Given the description of an element on the screen output the (x, y) to click on. 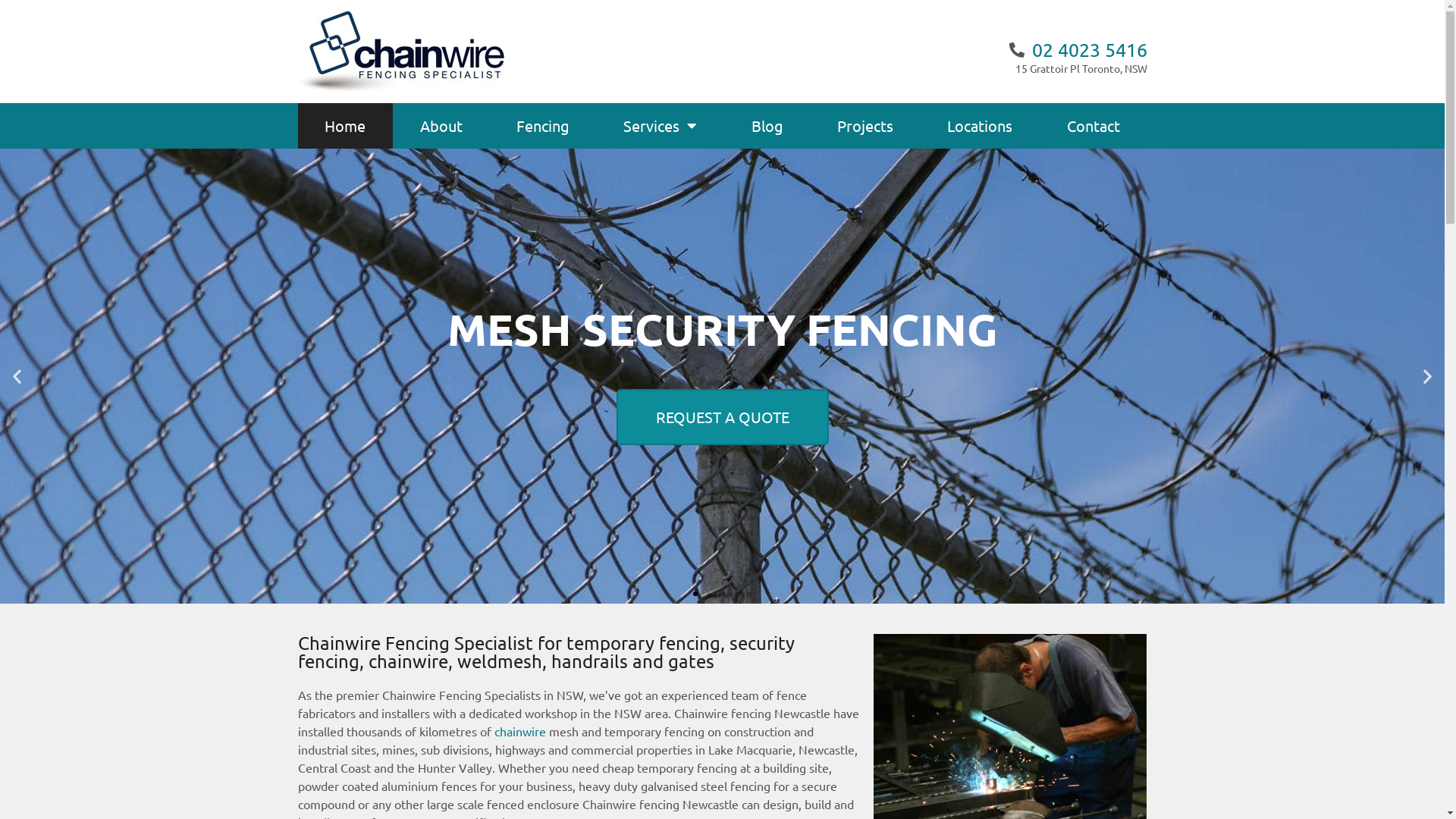
Contact Element type: text (1092, 125)
Blog Element type: text (766, 125)
02 4023 5416 Element type: text (1077, 49)
Fencing Element type: text (542, 125)
Home Element type: text (344, 125)
Services Element type: text (660, 125)
chainwire Element type: text (520, 730)
Projects Element type: text (864, 125)
REQUEST A QUOTE Element type: text (721, 417)
Locations Element type: text (979, 125)
15 Grattoir Pl Toronto, NSW Element type: text (937, 68)
About Element type: text (440, 125)
